Given the description of an element on the screen output the (x, y) to click on. 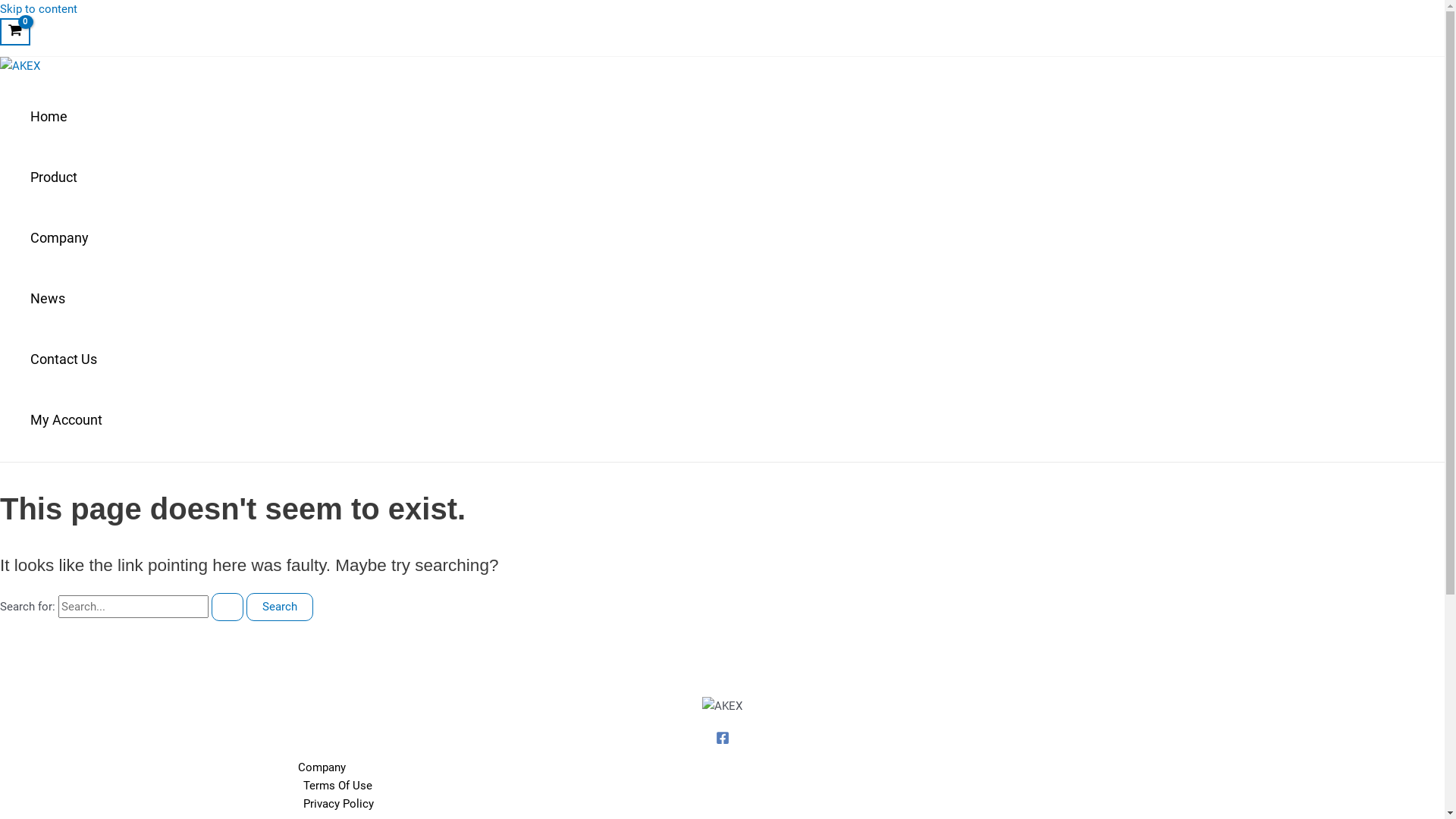
Privacy Policy Element type: text (736, 803)
Skip to content Element type: text (38, 8)
Company Element type: text (66, 237)
News Element type: text (66, 298)
Company Element type: text (736, 767)
Terms Of Use Element type: text (736, 785)
Contact Us Element type: text (66, 359)
My Account Element type: text (66, 419)
Product Element type: text (66, 177)
Search Element type: text (279, 607)
Home Element type: text (66, 116)
